Given the description of an element on the screen output the (x, y) to click on. 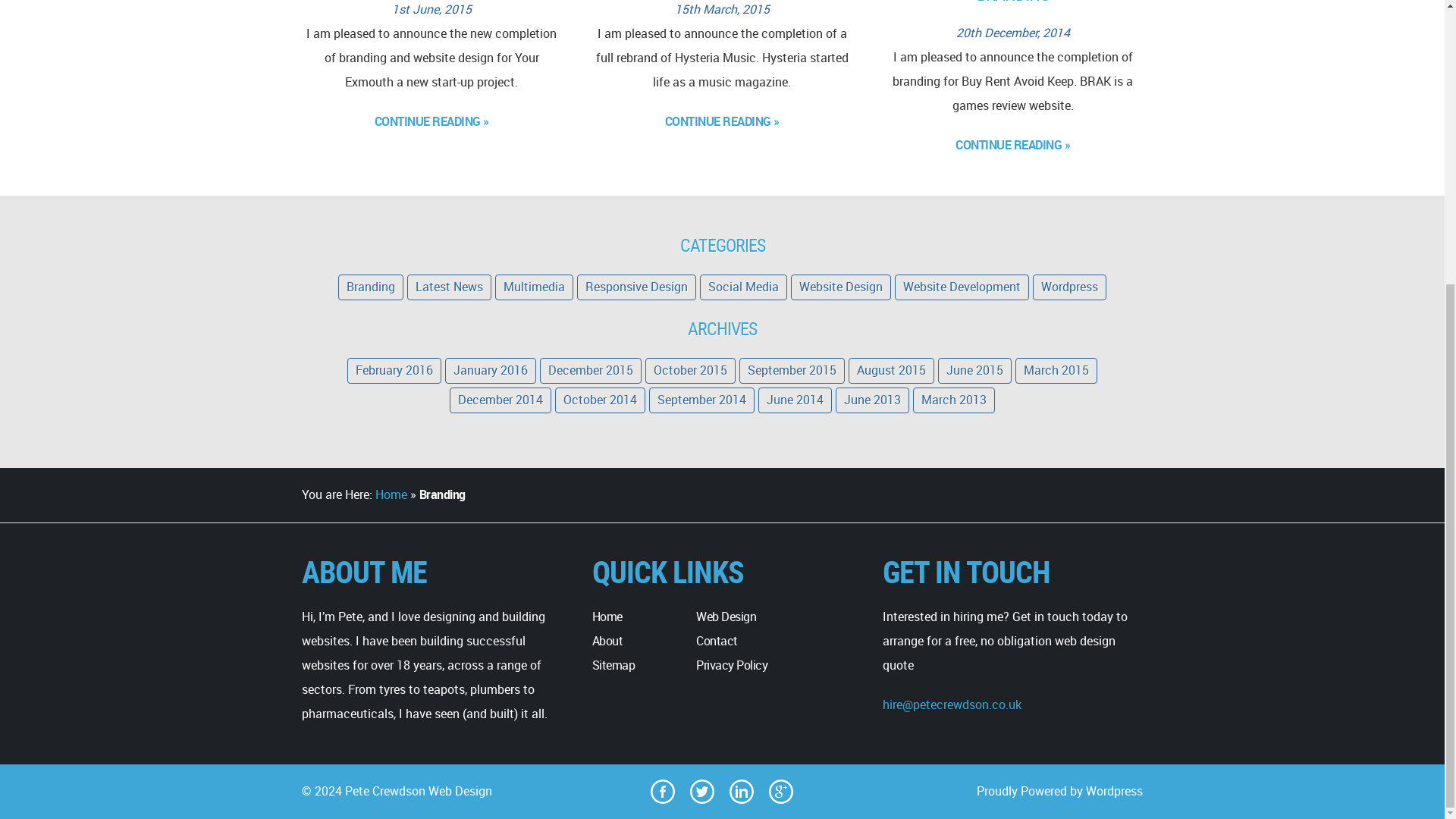
December 2015 (591, 370)
June 2015 (974, 370)
Social Media (743, 287)
Home (390, 494)
February 2016 (394, 370)
Responsive Design (635, 287)
March 2013 (953, 400)
June 2014 (794, 400)
December 2014 (500, 400)
Home (607, 616)
June 2013 (871, 400)
Latest News (449, 287)
March 2015 (1055, 370)
January 2016 (490, 370)
Website Design (840, 287)
